Given the description of an element on the screen output the (x, y) to click on. 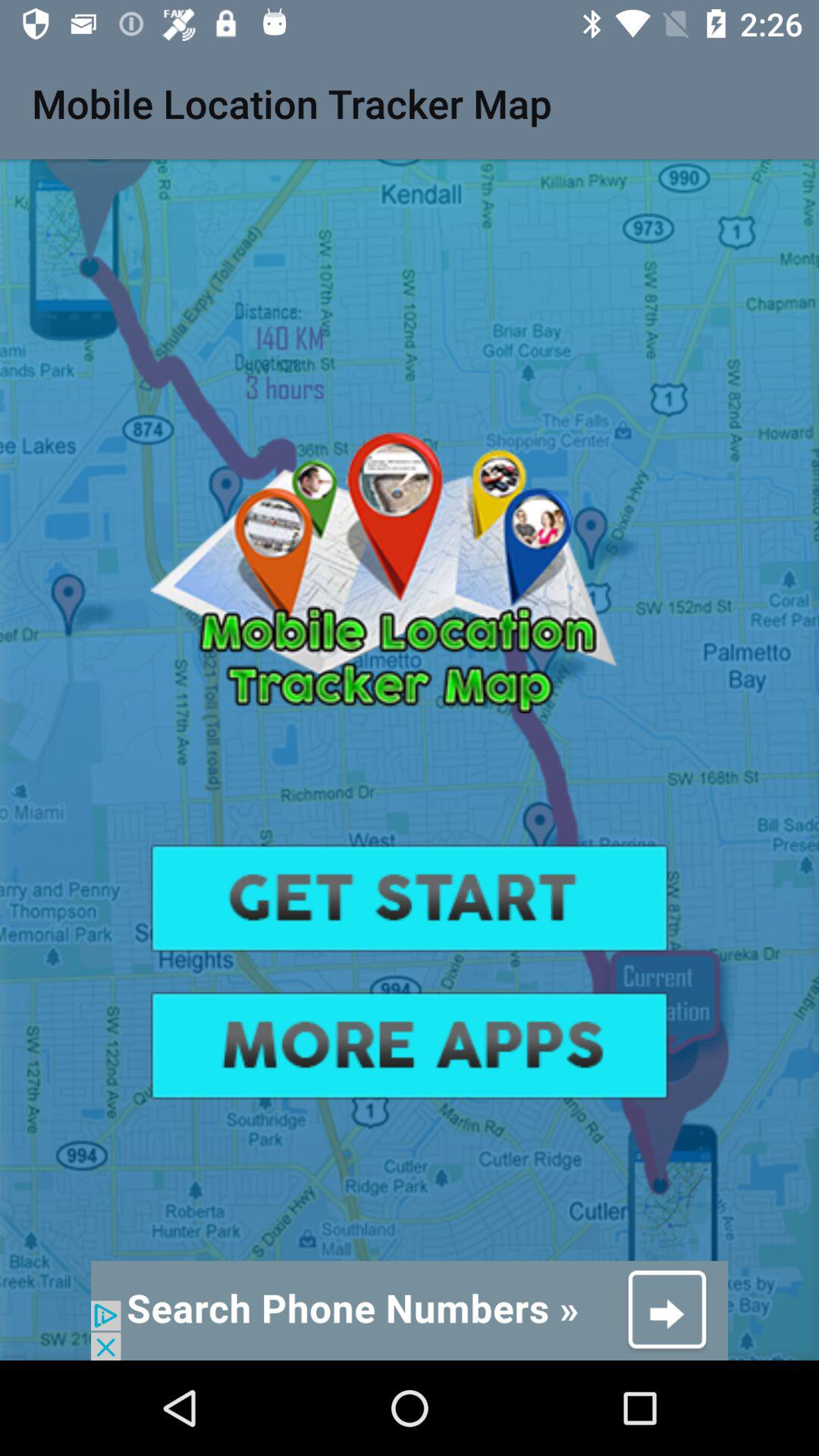
start game (409, 898)
